Given the description of an element on the screen output the (x, y) to click on. 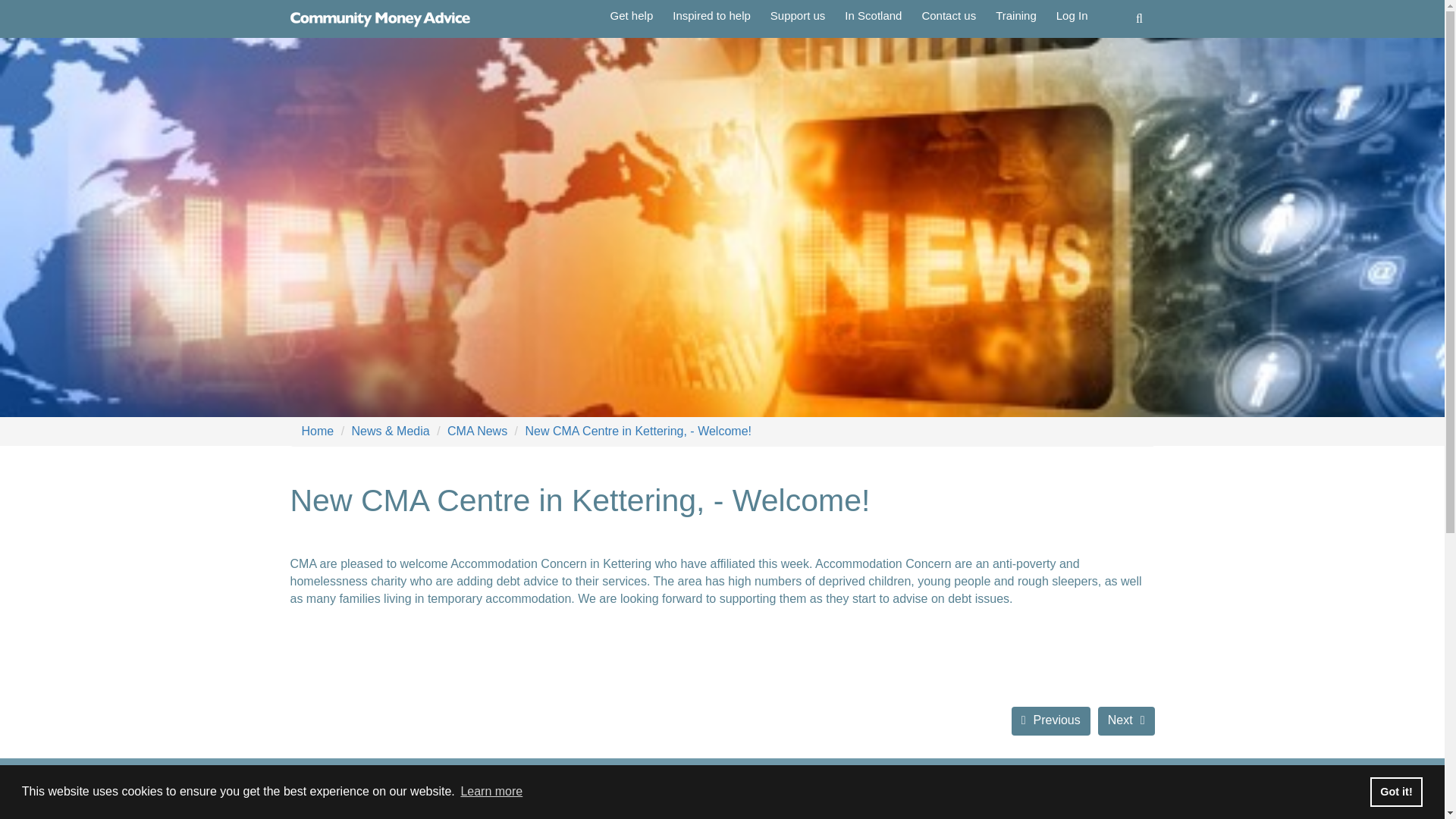
Got it! (1396, 791)
Get help (631, 15)
Community Money Advice (380, 18)
Log In (1071, 15)
Home (317, 431)
ABOUT COMMUNITY MONEY ADVICE (362, 813)
Training (1015, 15)
Learn more (491, 791)
Support us (797, 15)
CMA News (476, 431)
Contact us (948, 15)
Previous (1050, 721)
In Scotland (872, 15)
RESOURCES (483, 813)
Next (1125, 721)
